Given the description of an element on the screen output the (x, y) to click on. 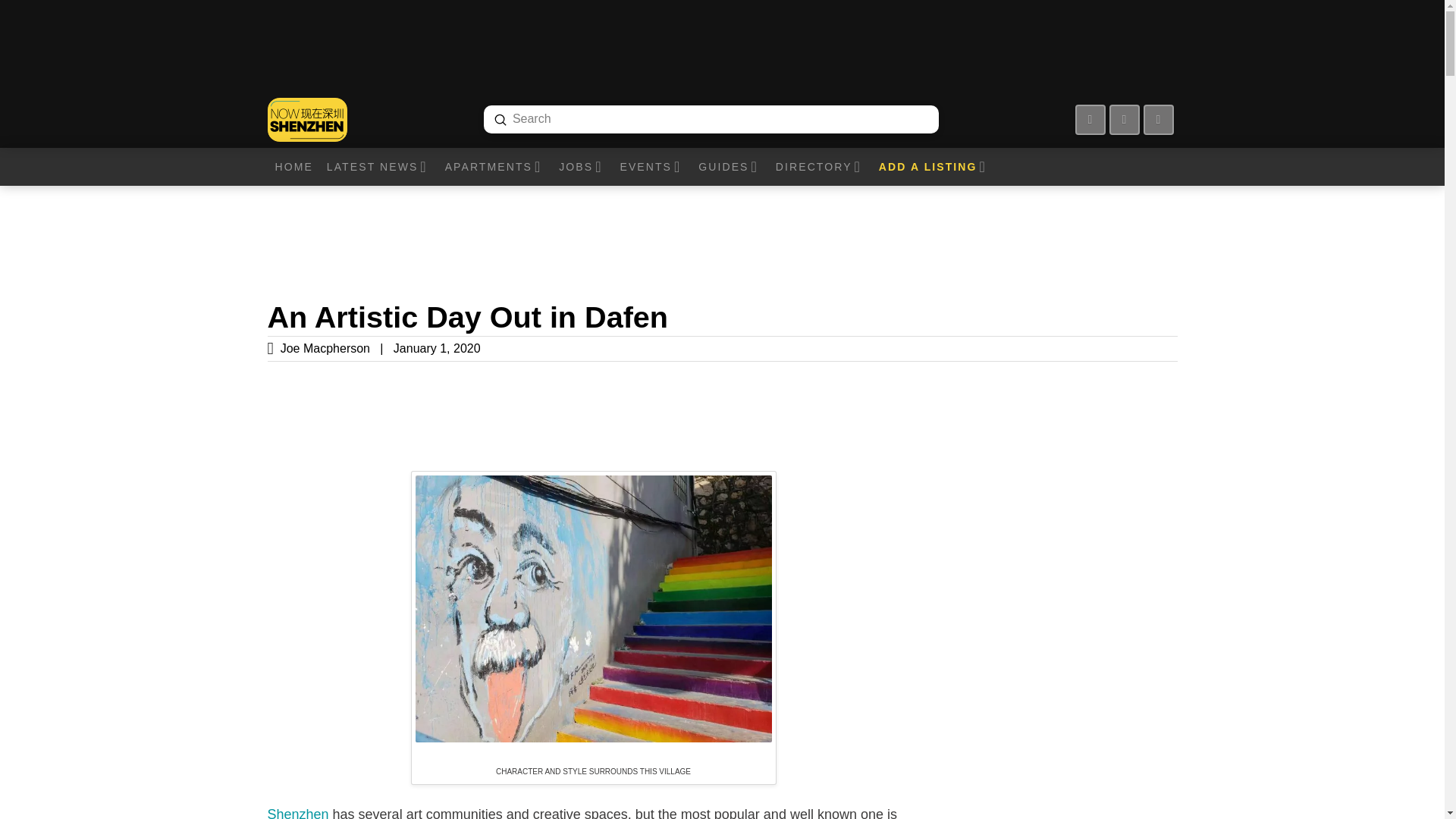
EVENTS (650, 166)
HOME (292, 166)
APARTMENTS (494, 166)
LATEST NEWS (378, 166)
Submit (500, 119)
JOBS (581, 166)
